Given the description of an element on the screen output the (x, y) to click on. 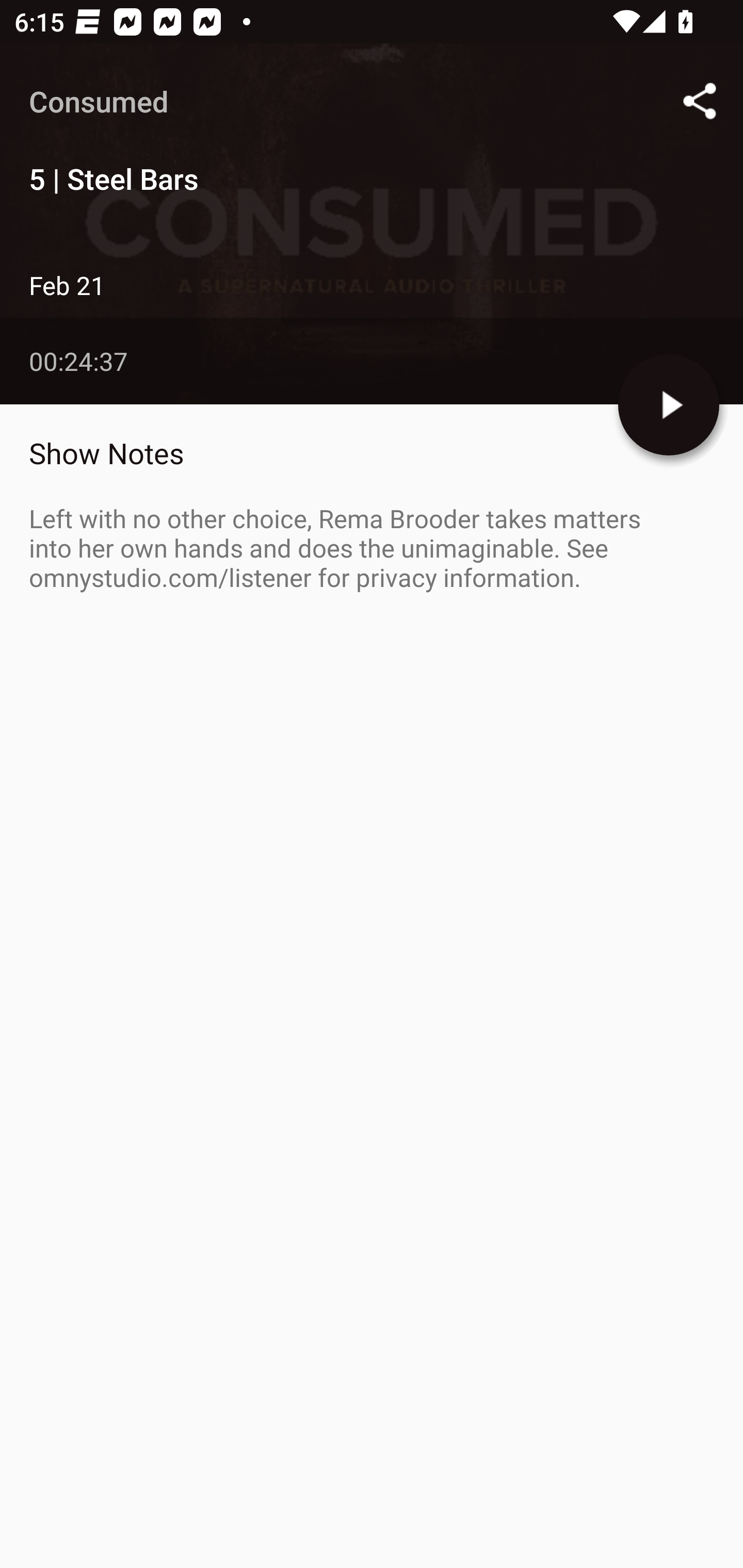
Consumed 5 | Steel Bars Feb 21 00:24:37 (371, 223)
